Given the description of an element on the screen output the (x, y) to click on. 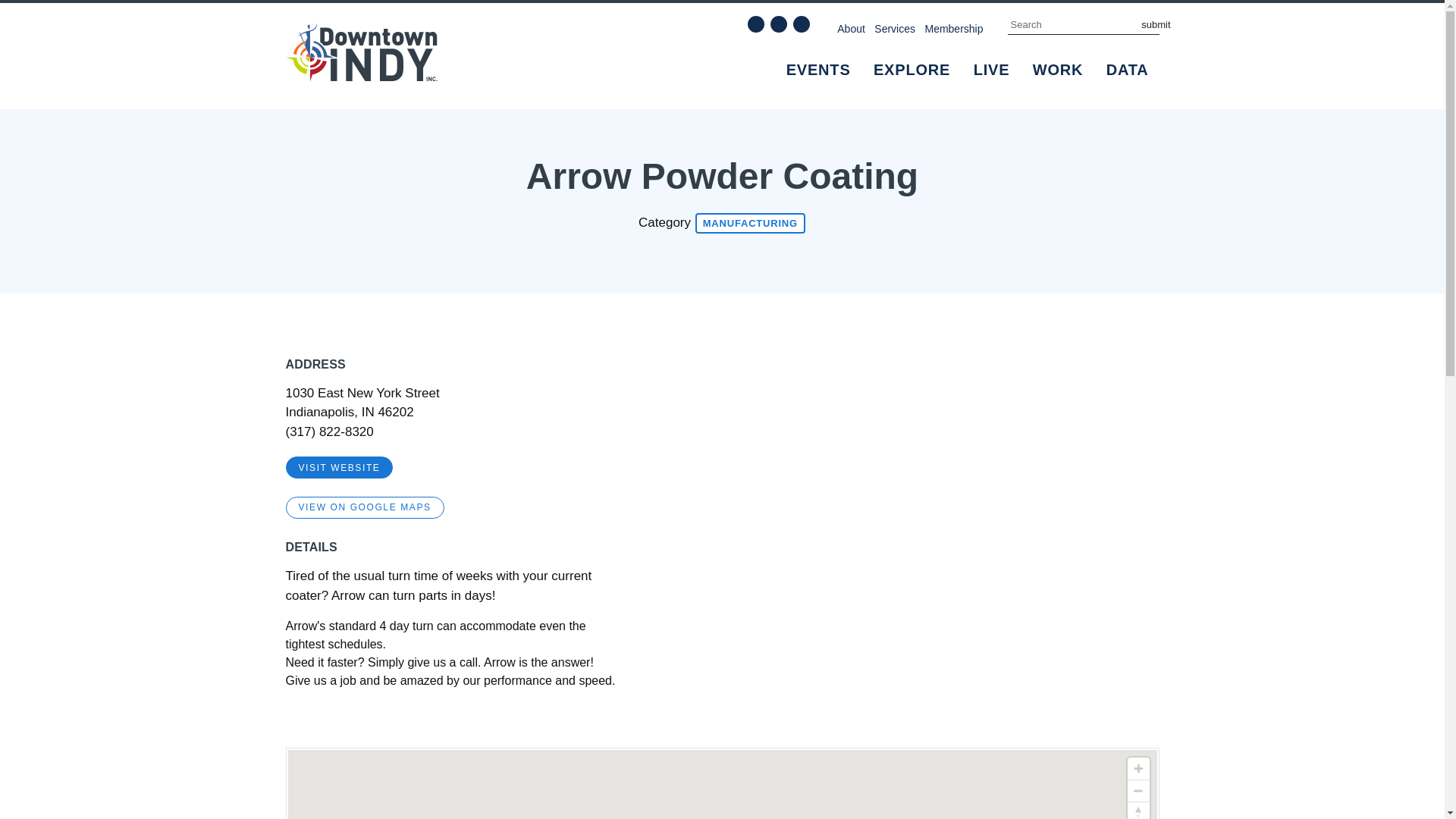
Zoom out (1137, 790)
About (850, 28)
Reset bearing to north (1137, 810)
Skip to Main Content (56, 9)
DATA (1127, 69)
EXPLORE (911, 69)
LIVE (991, 69)
Services (895, 28)
Zoom in (1137, 768)
EVENTS (818, 69)
